Given the description of an element on the screen output the (x, y) to click on. 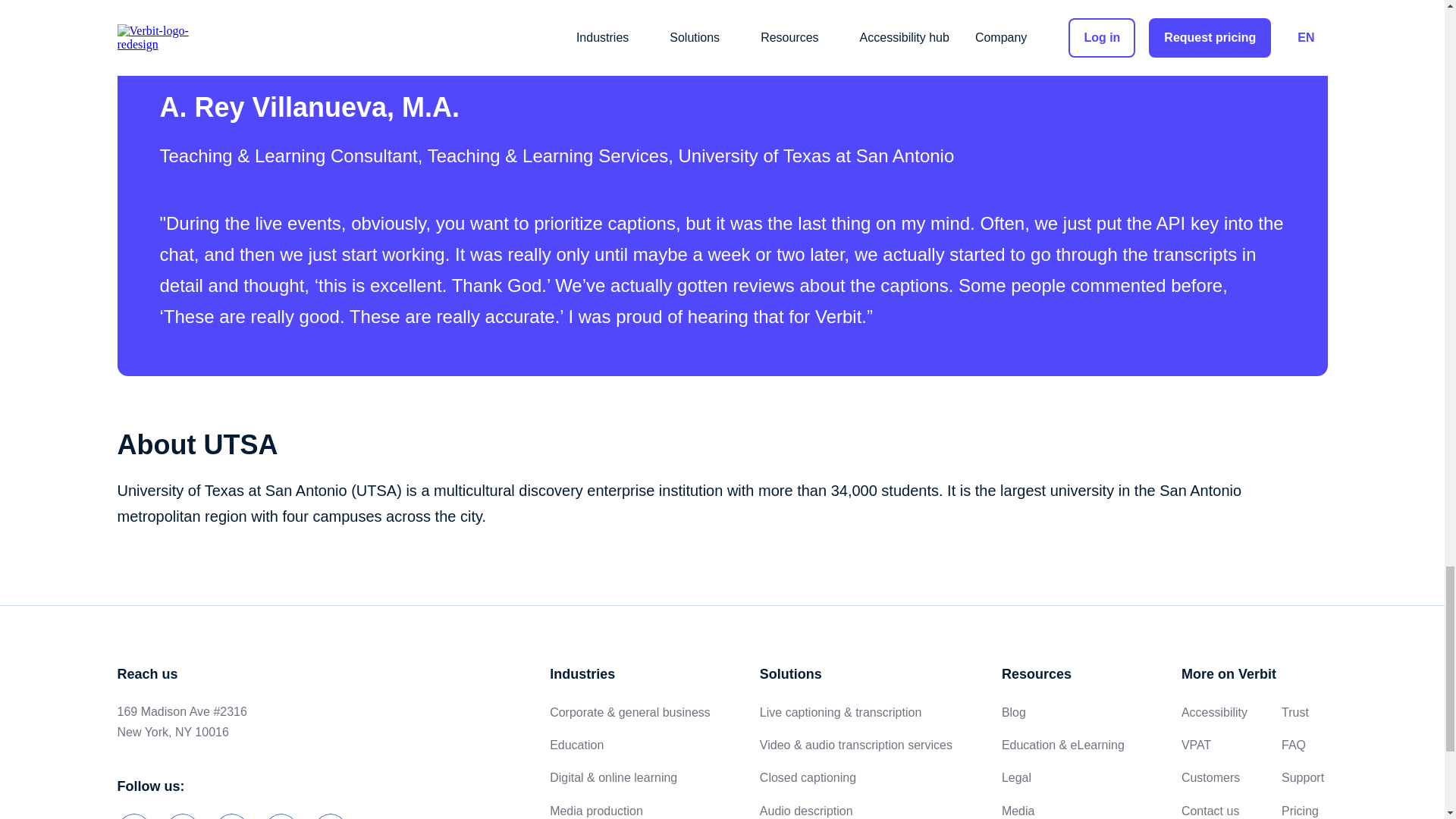
YouTube (281, 816)
Instagram (330, 816)
Linkedin (132, 816)
Page 2 (721, 503)
Facebook (182, 816)
Twitter (231, 816)
